Given the description of an element on the screen output the (x, y) to click on. 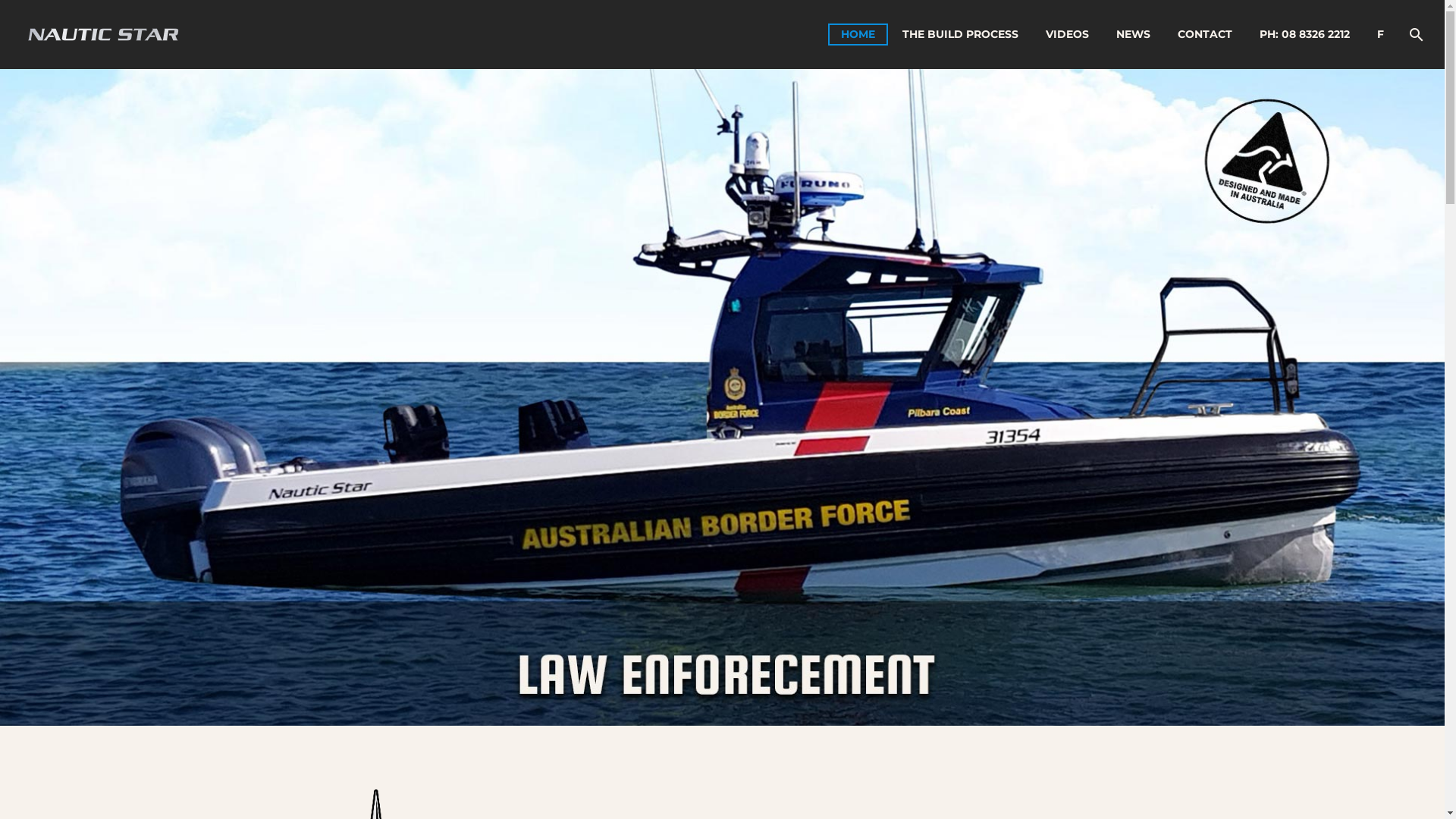
F Element type: text (1380, 34)
THE BUILD PROCESS Element type: text (960, 34)
PH: 08 8326 2212 Element type: text (1304, 34)
NEWS Element type: text (1132, 34)
HOME Element type: text (858, 34)
CONTACT Element type: text (1204, 34)
VIDEOS Element type: text (1067, 34)
